Given the description of an element on the screen output the (x, y) to click on. 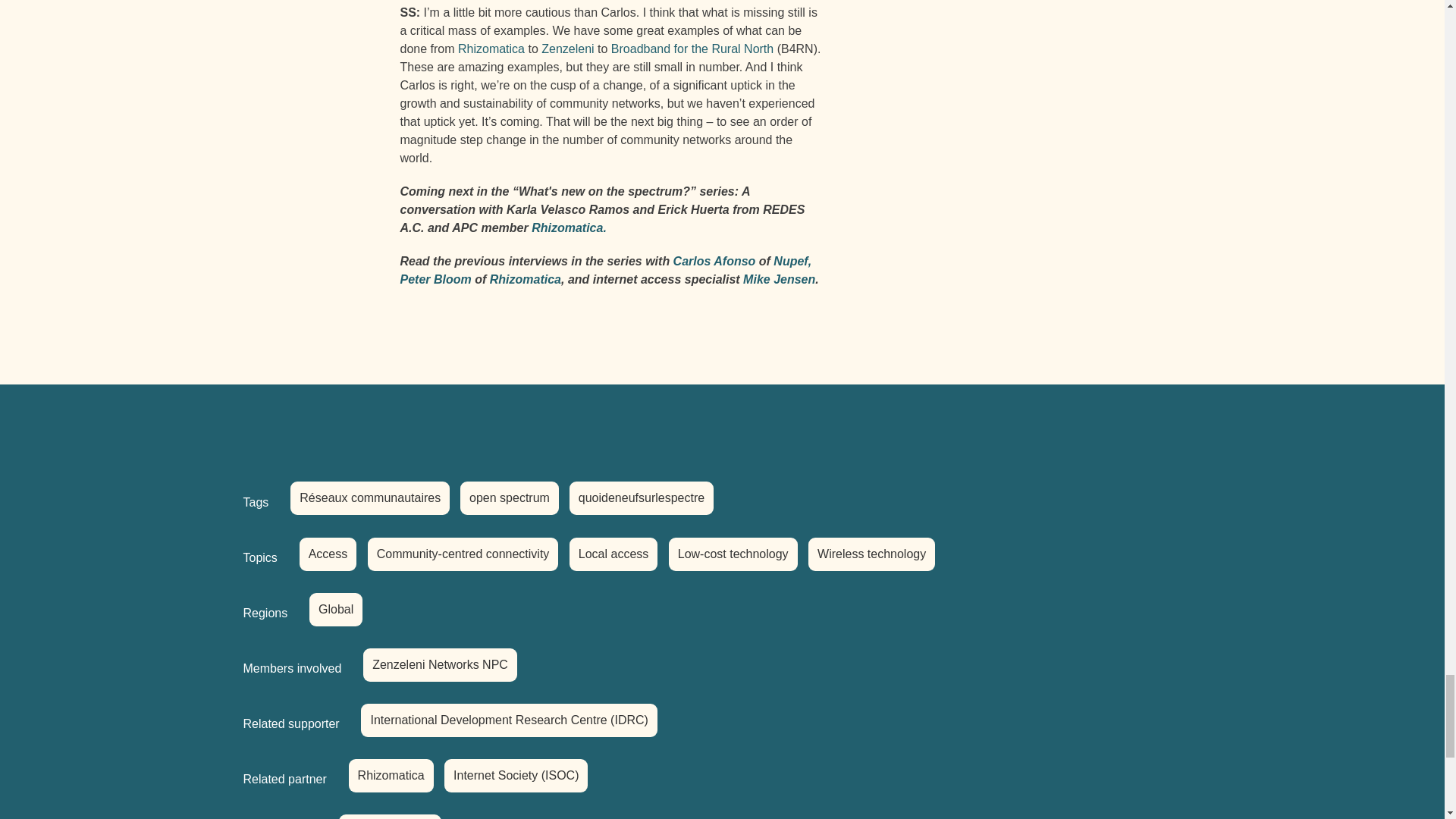
Zenzeleni (567, 48)
Rhizomatica (491, 48)
Broadband for the Rural North (692, 48)
